Given the description of an element on the screen output the (x, y) to click on. 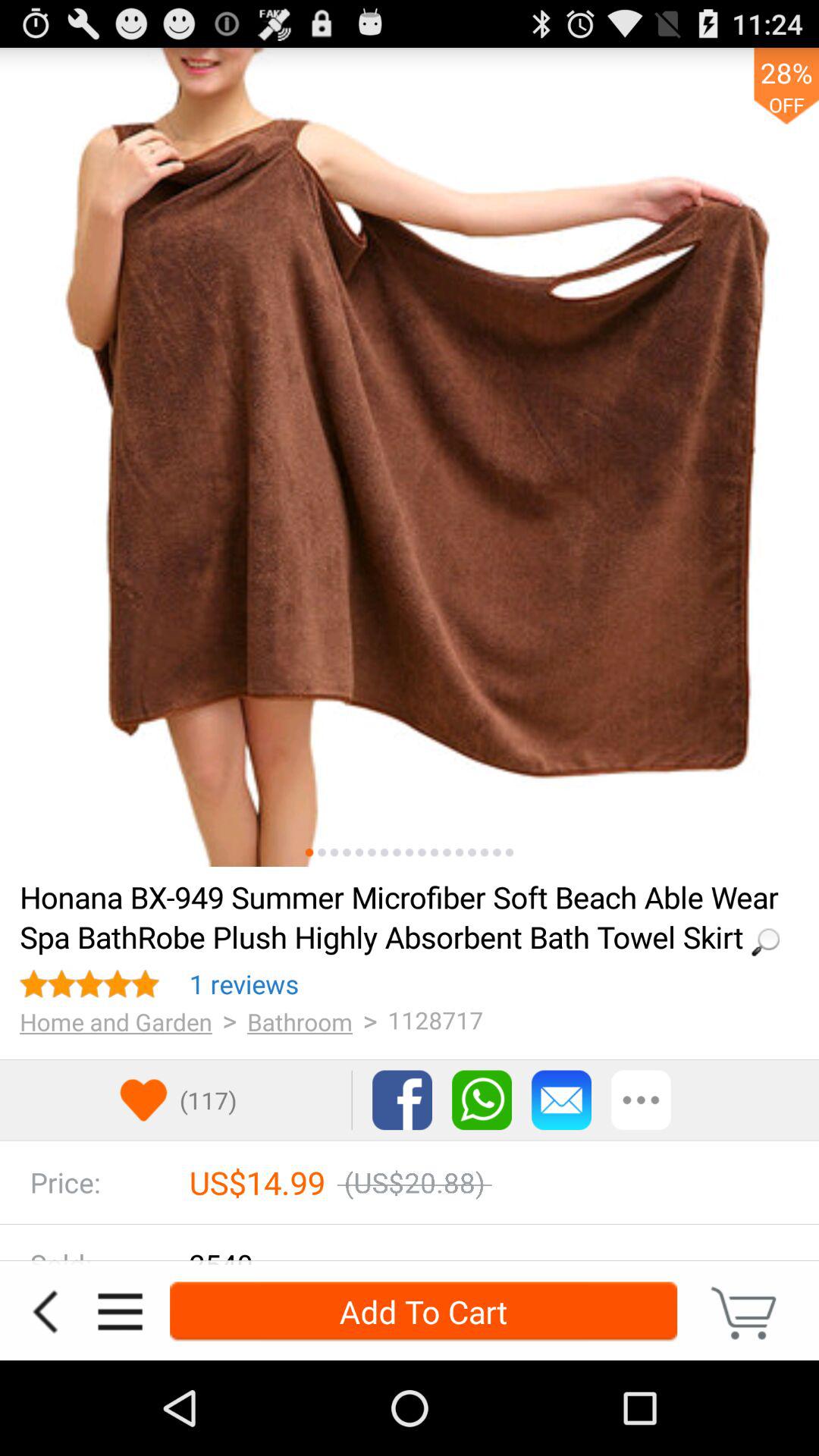
select the item to the right of the > (299, 1021)
